Given the description of an element on the screen output the (x, y) to click on. 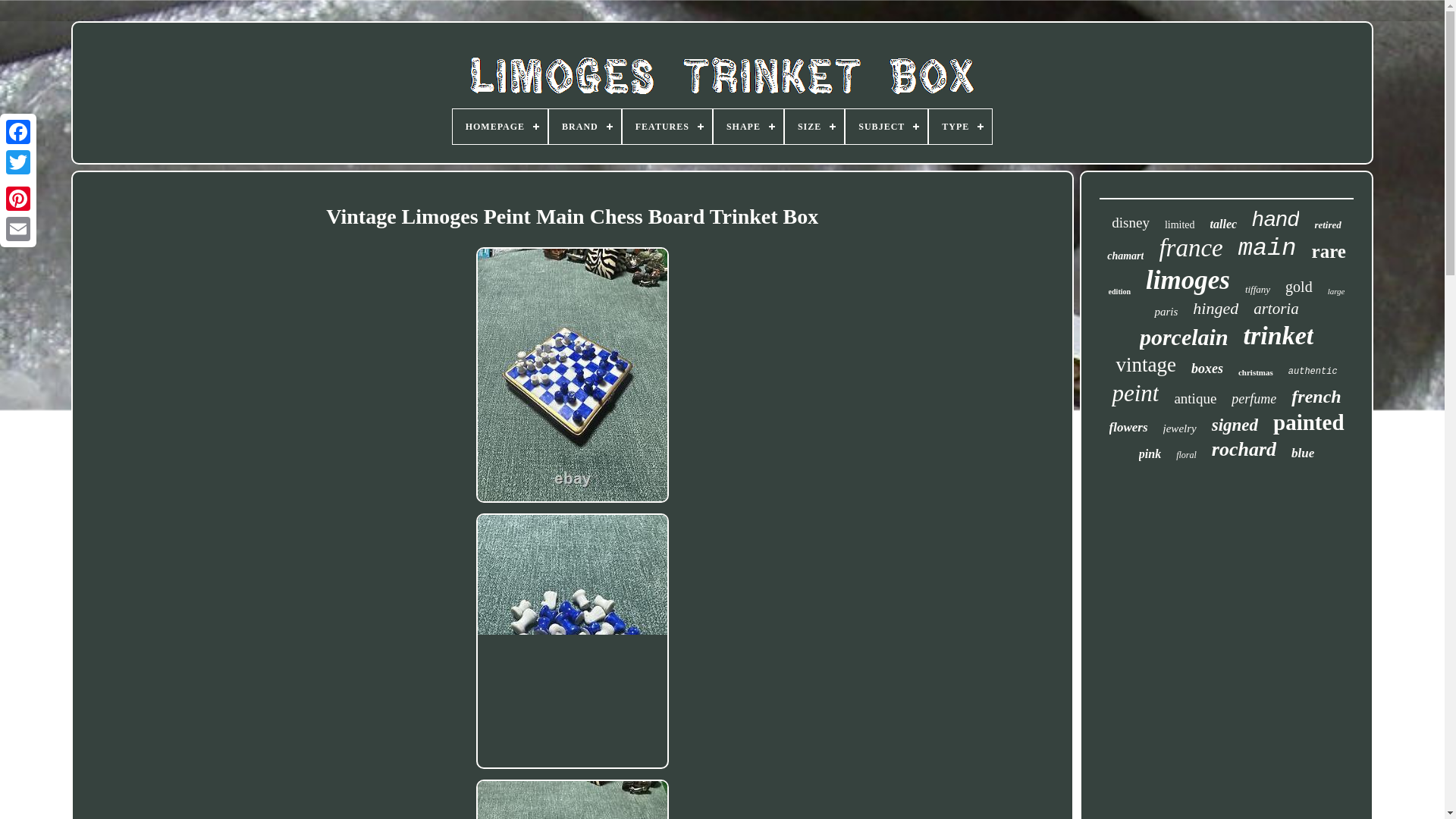
FEATURES (667, 126)
BRAND (584, 126)
HOMEPAGE (499, 126)
Vintage Limoges Peint Main Chess Board Trinket Box (572, 799)
Pinterest (17, 198)
